Given the description of an element on the screen output the (x, y) to click on. 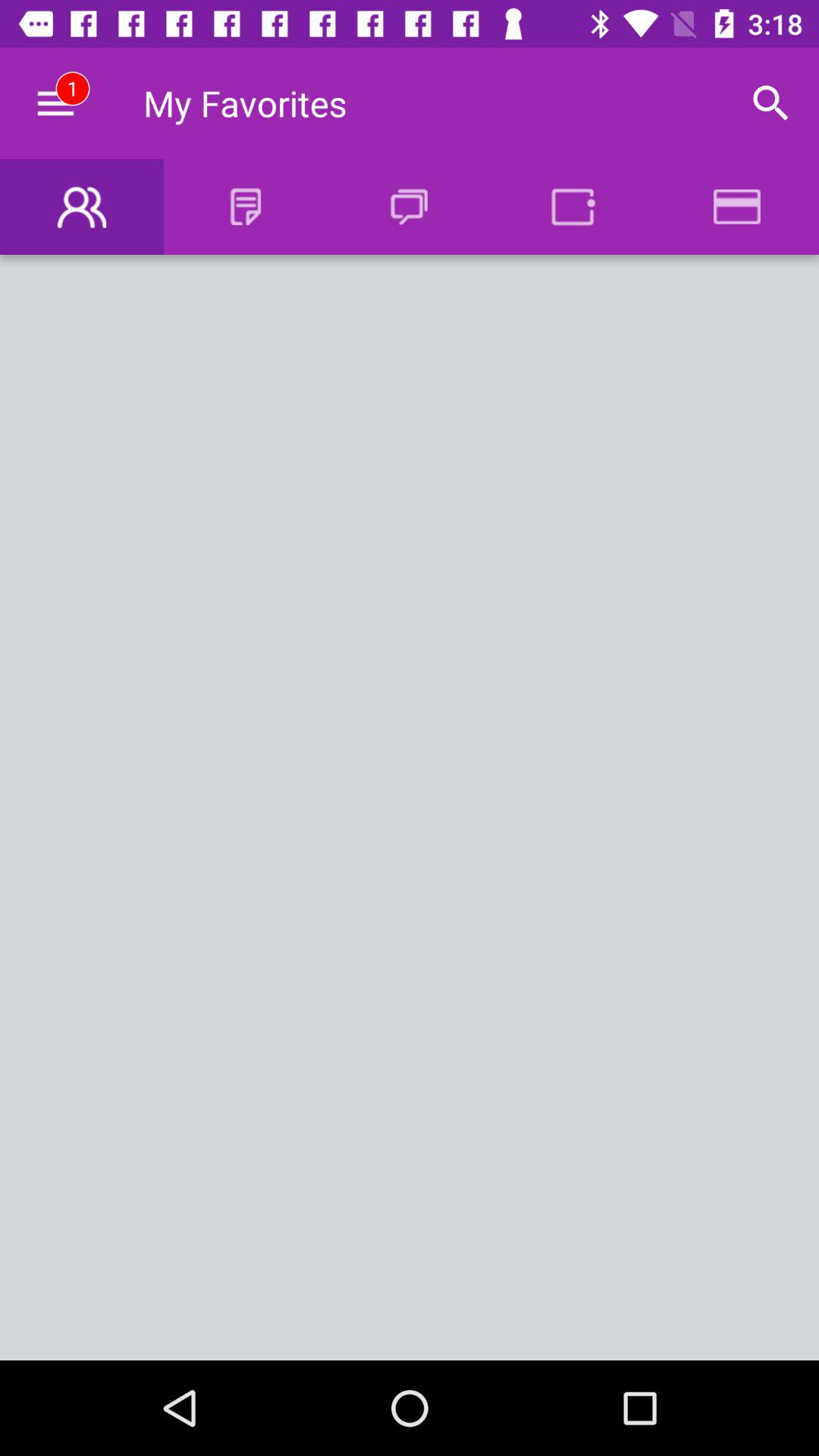
launch the icon next to the my favorites (55, 103)
